Given the description of an element on the screen output the (x, y) to click on. 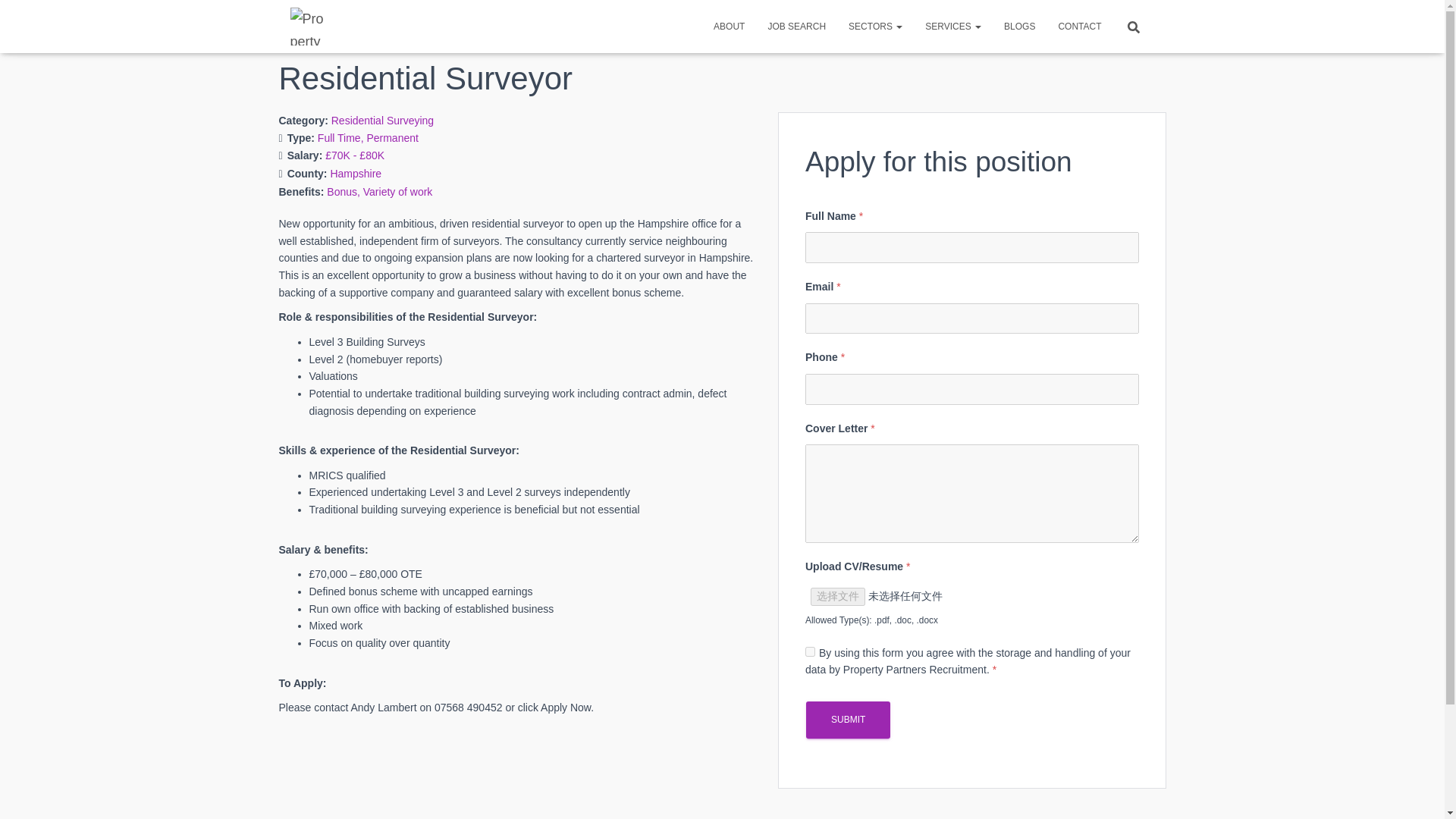
About (728, 26)
ABOUT (728, 26)
SECTORS (875, 26)
yes (810, 651)
Services (953, 26)
JOB SEARCH (796, 26)
Hampshire (355, 173)
Job Search (796, 26)
Residential Surveying (382, 120)
Submit (847, 719)
Blogs (1019, 26)
Bonus (344, 191)
Full Time (341, 137)
Search (16, 16)
CONTACT (1079, 26)
